Given the description of an element on the screen output the (x, y) to click on. 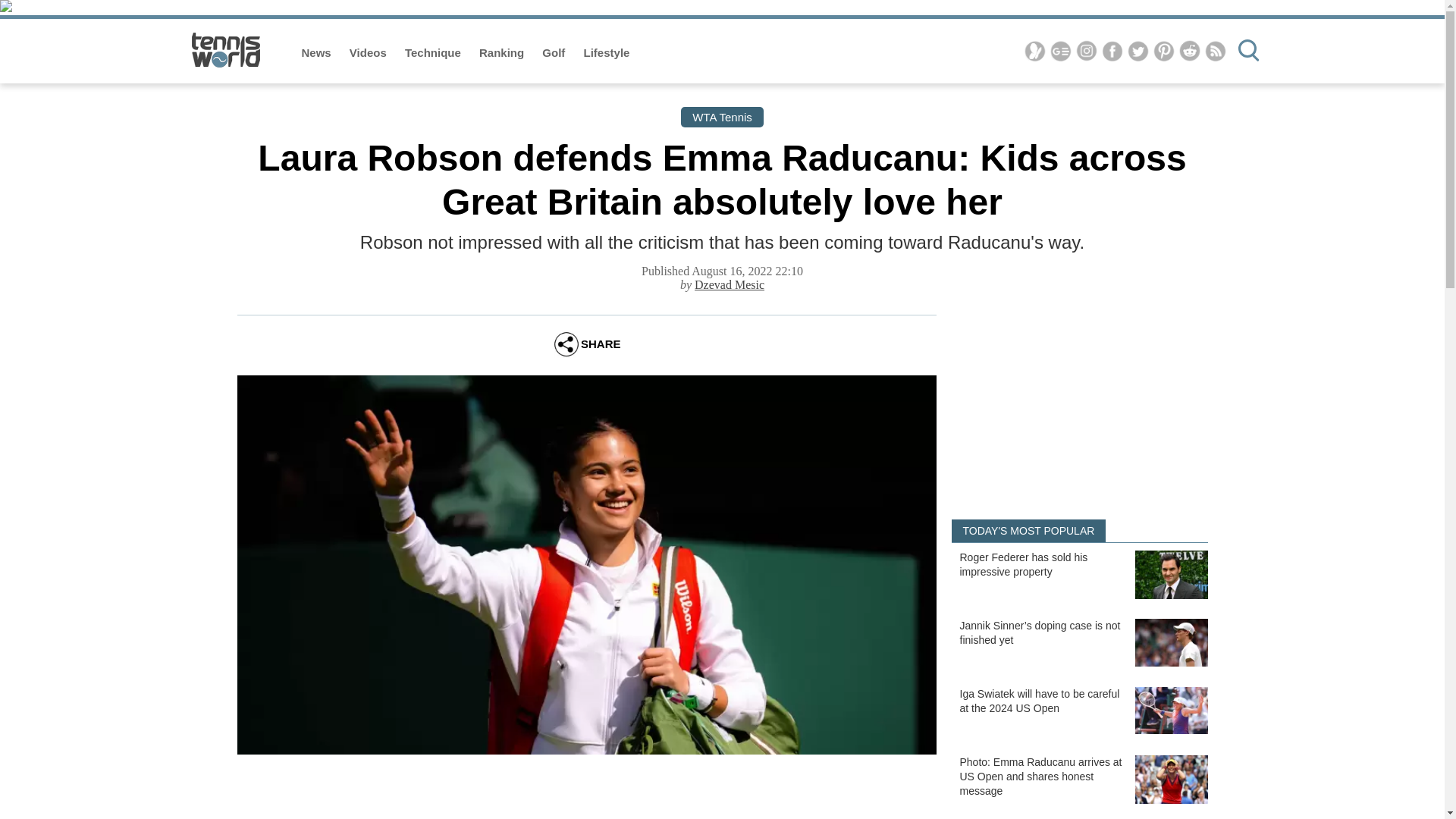
Golf (554, 51)
Lifestyle (606, 51)
Ranking (503, 51)
News (317, 51)
Videos (369, 51)
Technique (434, 51)
